Given the description of an element on the screen output the (x, y) to click on. 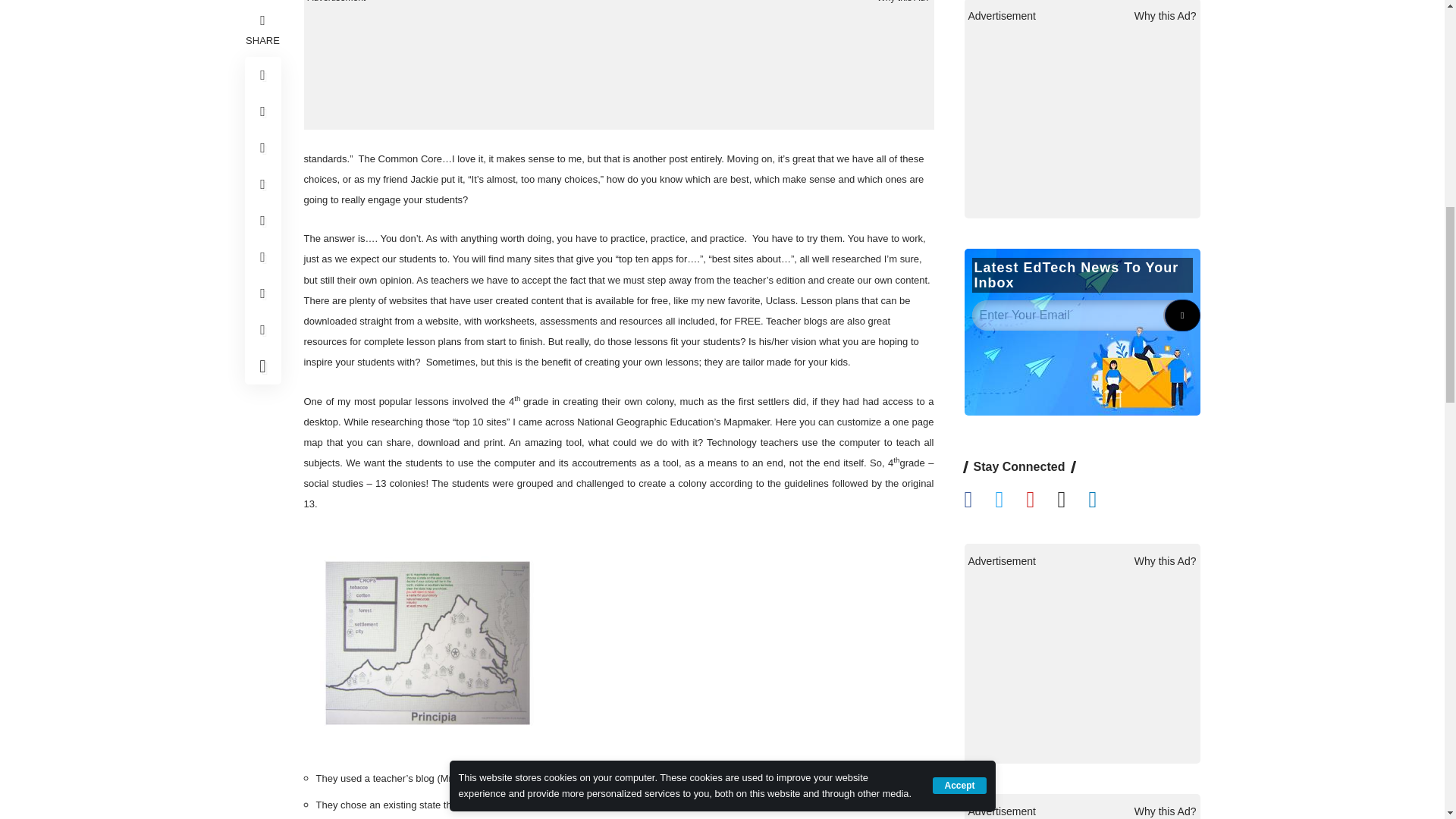
Graph Technology Learning Tools (427, 640)
Follow EdTechReview on Facebook (979, 748)
